Given the description of an element on the screen output the (x, y) to click on. 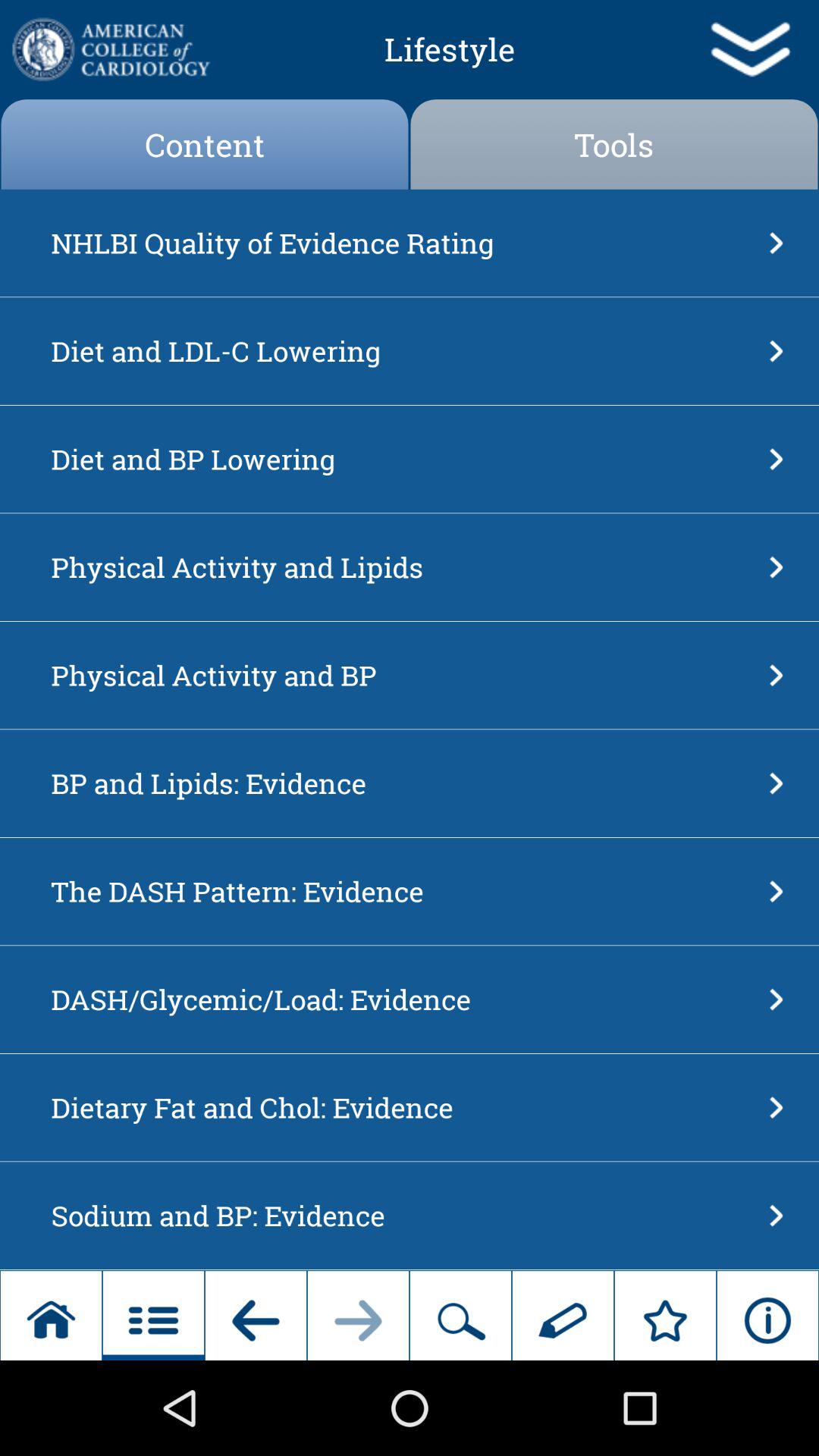
scroll until the the dash pattern icon (405, 891)
